Given the description of an element on the screen output the (x, y) to click on. 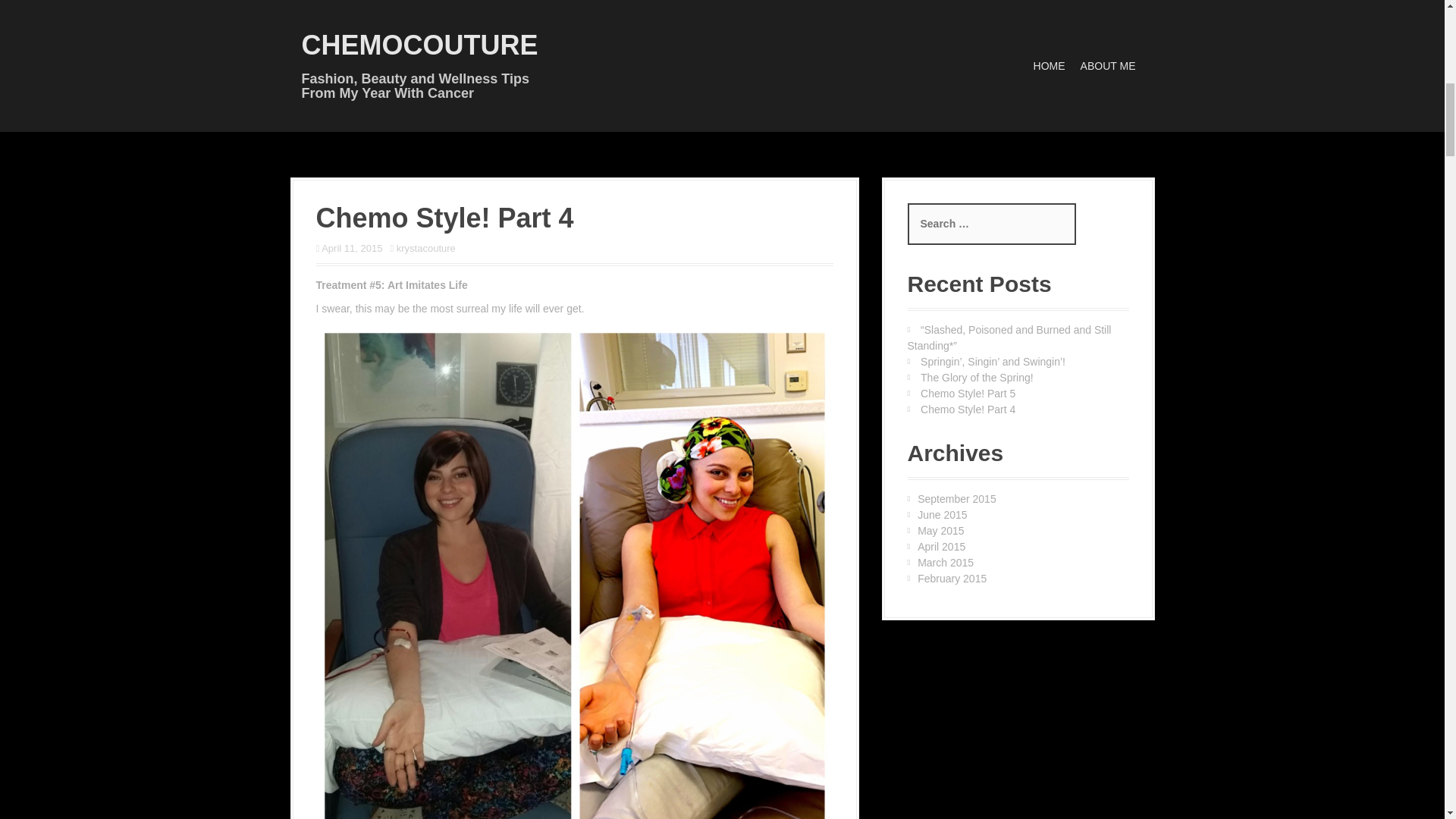
Search for: (991, 223)
HOME (1049, 66)
April 11, 2015 (351, 247)
ABOUT ME (1107, 66)
krystacouture (425, 247)
CHEMOCOUTURE (419, 44)
